Given the description of an element on the screen output the (x, y) to click on. 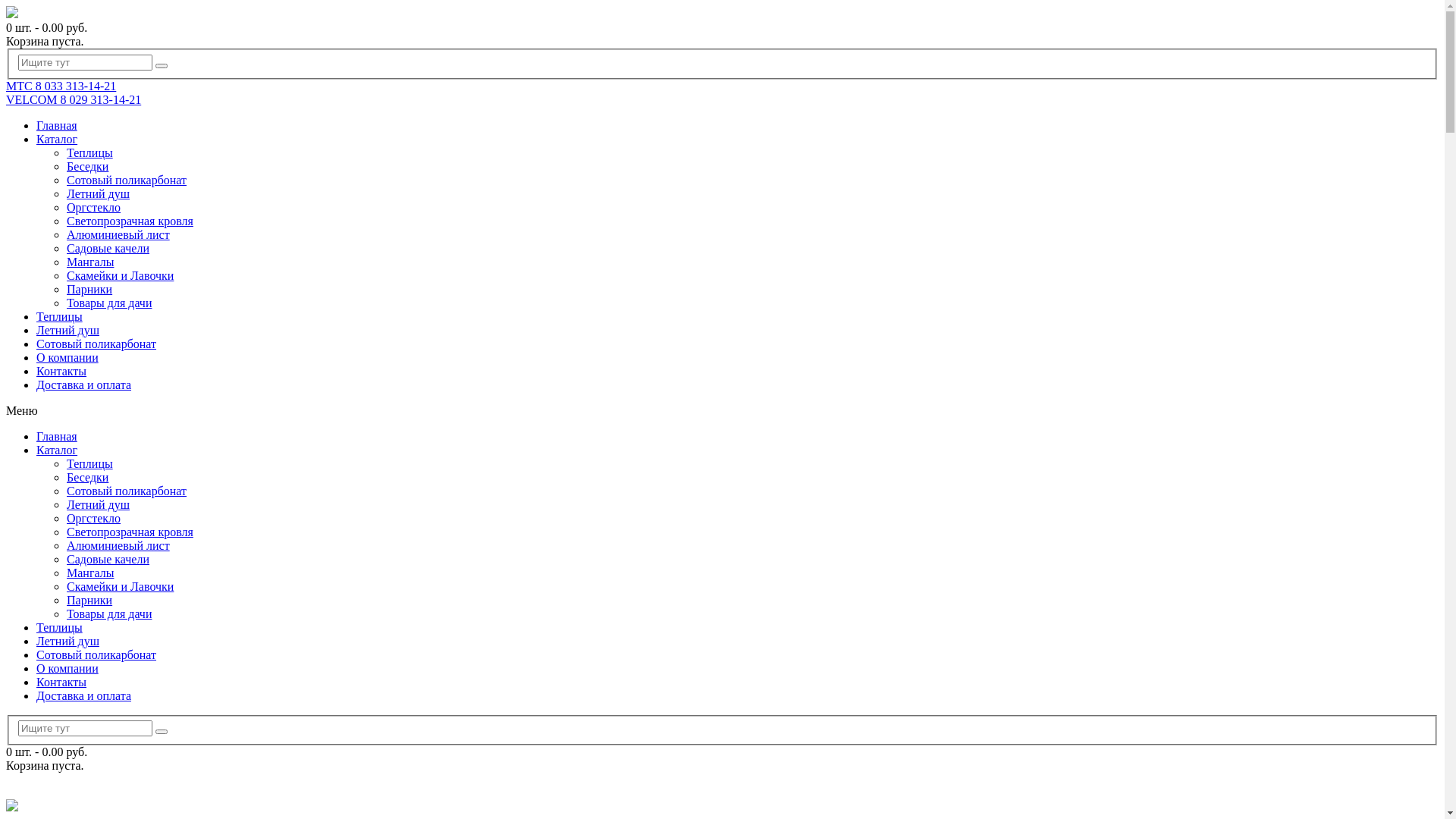
Search Element type: hover (161, 731)
Search Element type: hover (161, 65)
VELCOM 8 029 313-14-21 Element type: text (73, 99)
